Given the description of an element on the screen output the (x, y) to click on. 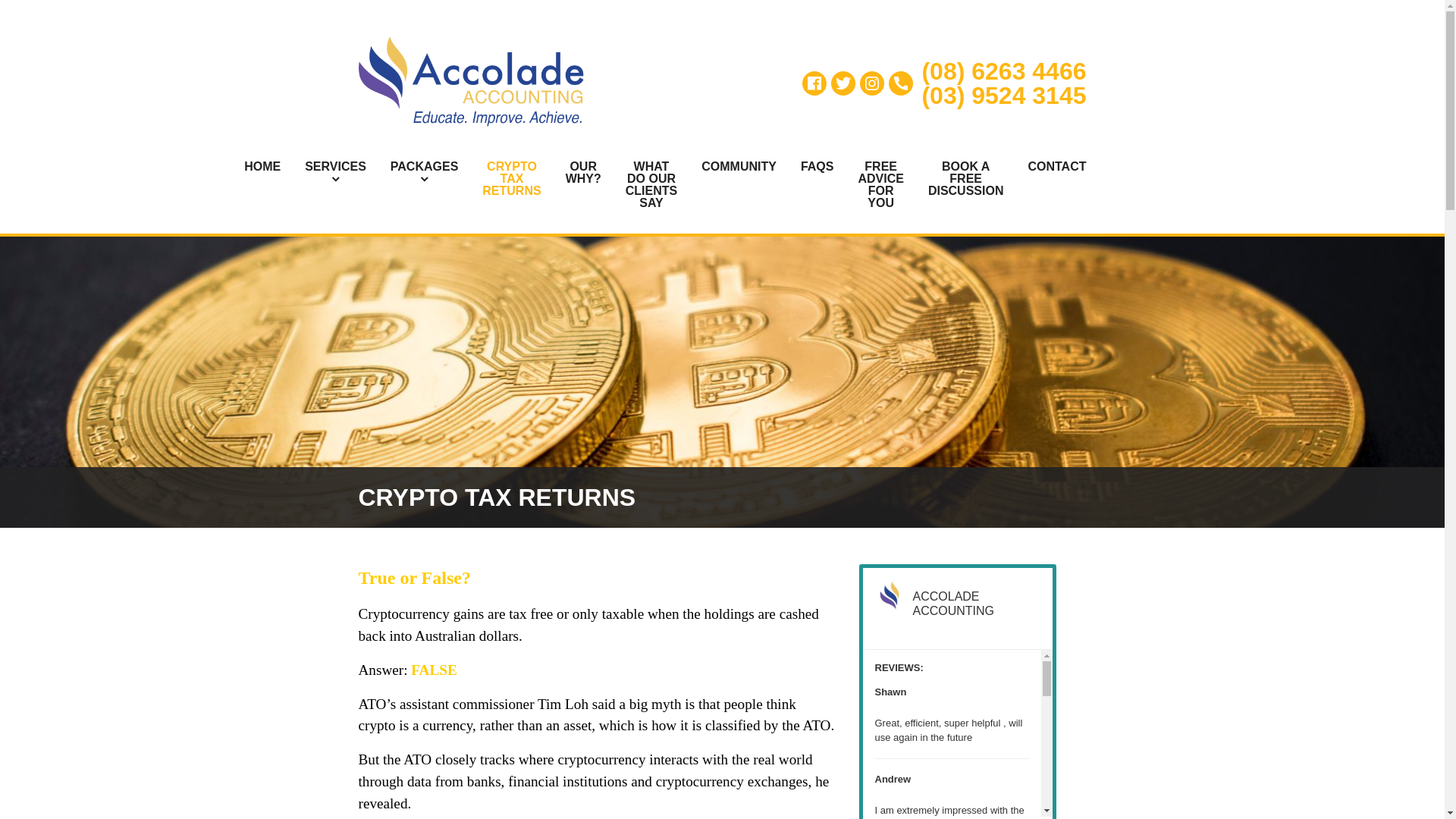
PACKAGES (412, 172)
COMMUNITY (726, 166)
BOOK A FREE DISCUSSION (954, 178)
WHAT DO OUR CLIENTS SAY (639, 184)
CRYPTO TAX RETURNS (499, 178)
HOME (250, 166)
OUR WHY? (571, 172)
SERVICES (323, 172)
FAQS (805, 166)
CONTACT (1044, 166)
